Given the description of an element on the screen output the (x, y) to click on. 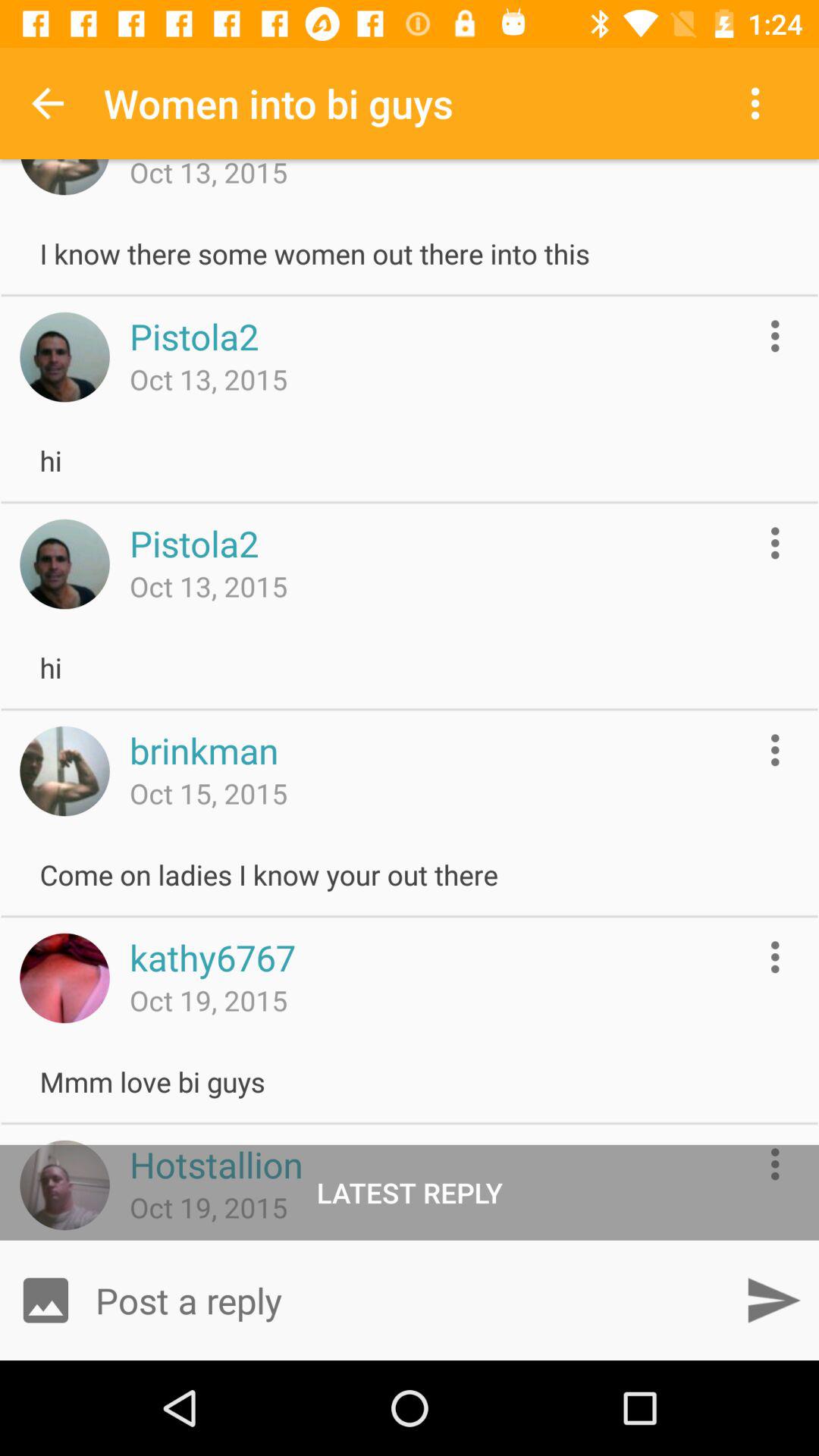
post reply (773, 1300)
